Given the description of an element on the screen output the (x, y) to click on. 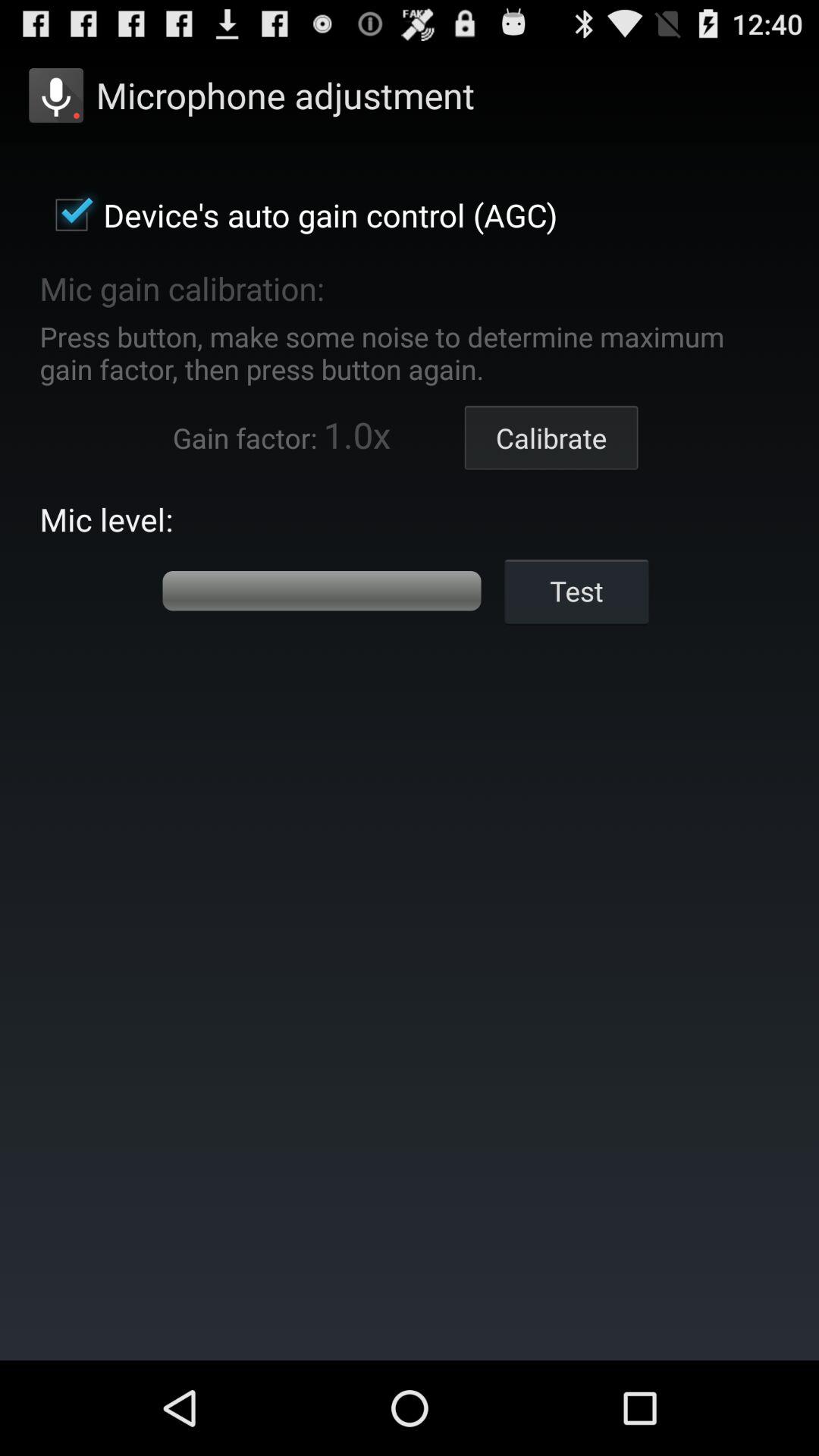
swipe until the calibrate item (551, 437)
